Given the description of an element on the screen output the (x, y) to click on. 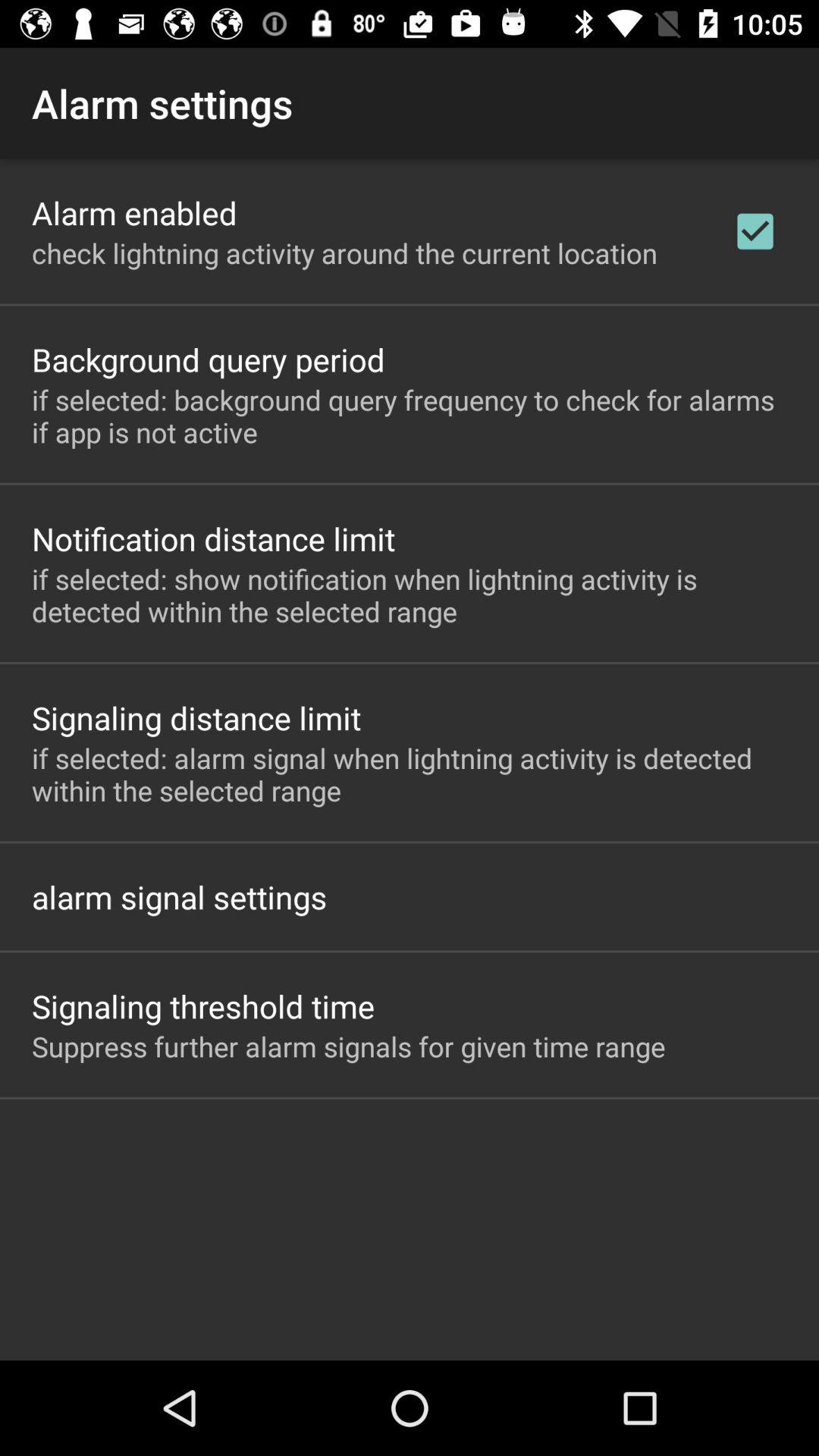
flip until signaling threshold time icon (202, 1005)
